Given the description of an element on the screen output the (x, y) to click on. 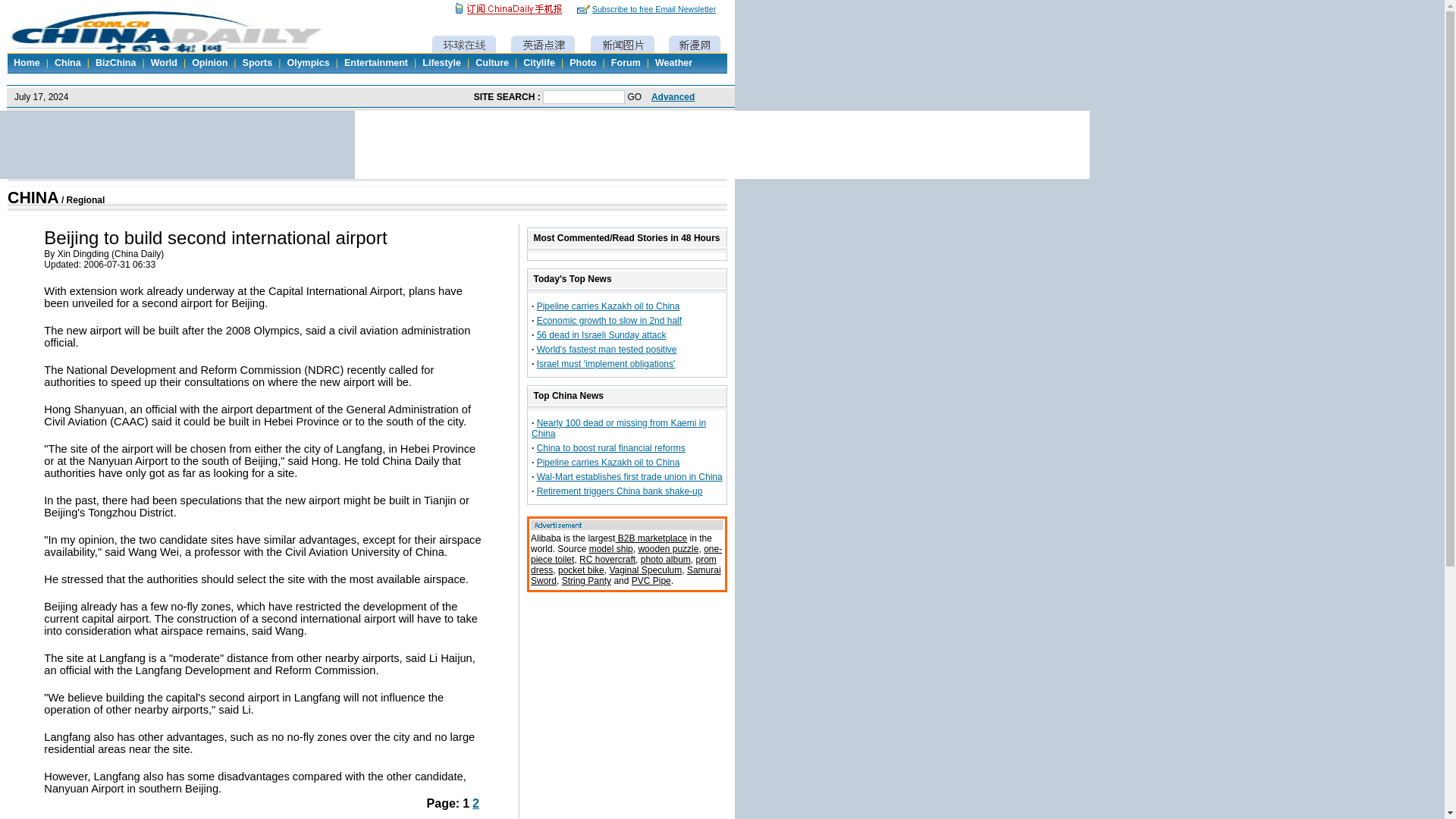
Subscribe to free Email Newsletter (654, 7)
model ship (611, 548)
Pipeline carries Kazakh oil to China (608, 462)
Lifestyle (441, 62)
CHINA (33, 198)
Nearly 100 dead or missing from Kaemi in China (618, 427)
Opinion (209, 62)
Pipeline carries Kazakh oil to China (608, 306)
Olympics (307, 62)
Economic growth to slow in 2nd half (609, 320)
Weather (673, 62)
56 dead in Israeli Sunday attack (601, 335)
Wal-Mart establishes first trade union in China (629, 476)
Home (26, 62)
one-piece toilet (626, 554)
